Given the description of an element on the screen output the (x, y) to click on. 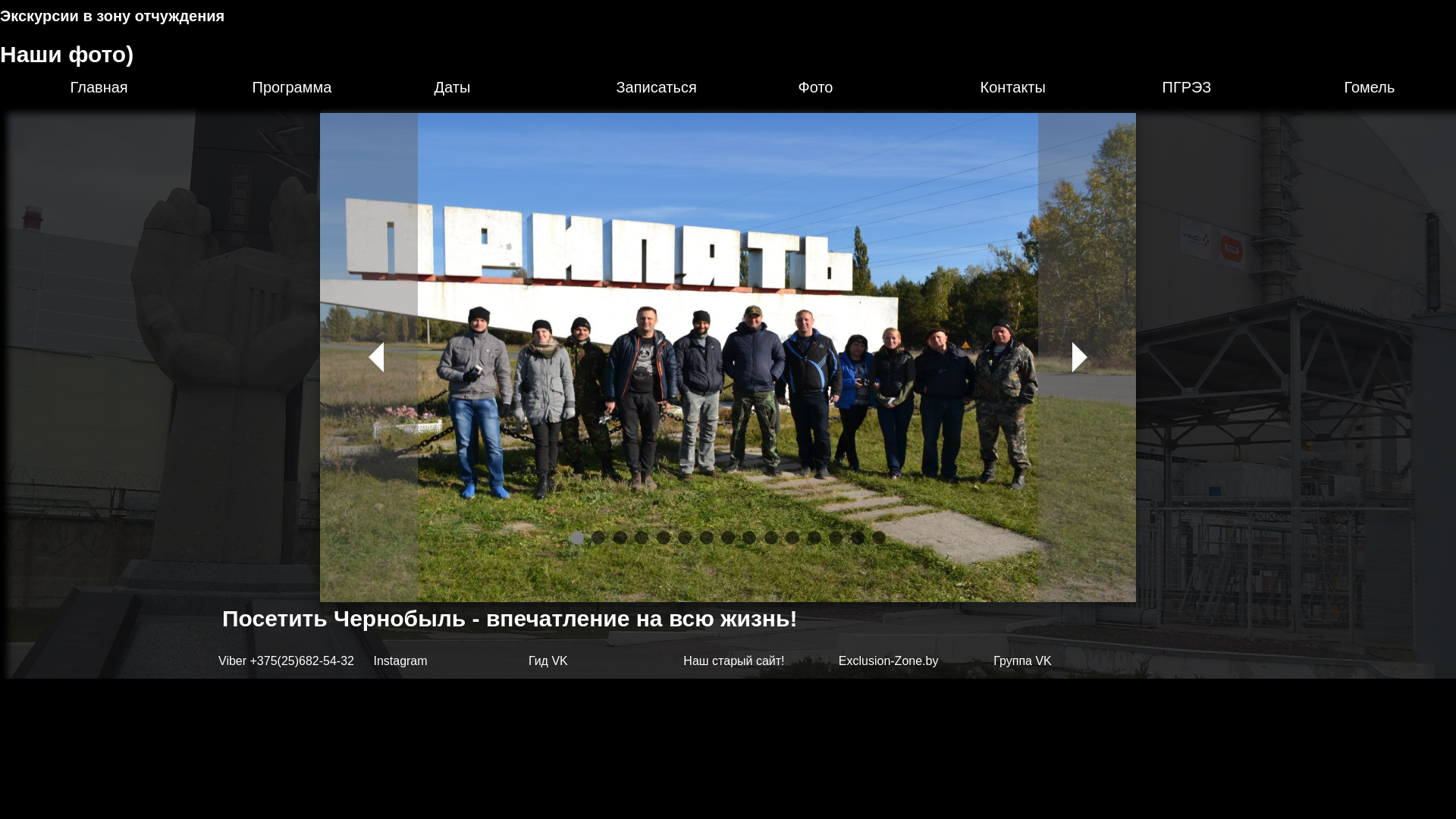
Instagram Element type: text (399, 660)
Viber +375(25)682-54-32 Element type: text (286, 660)
Exclusion-Zone.by Element type: text (888, 660)
